Given the description of an element on the screen output the (x, y) to click on. 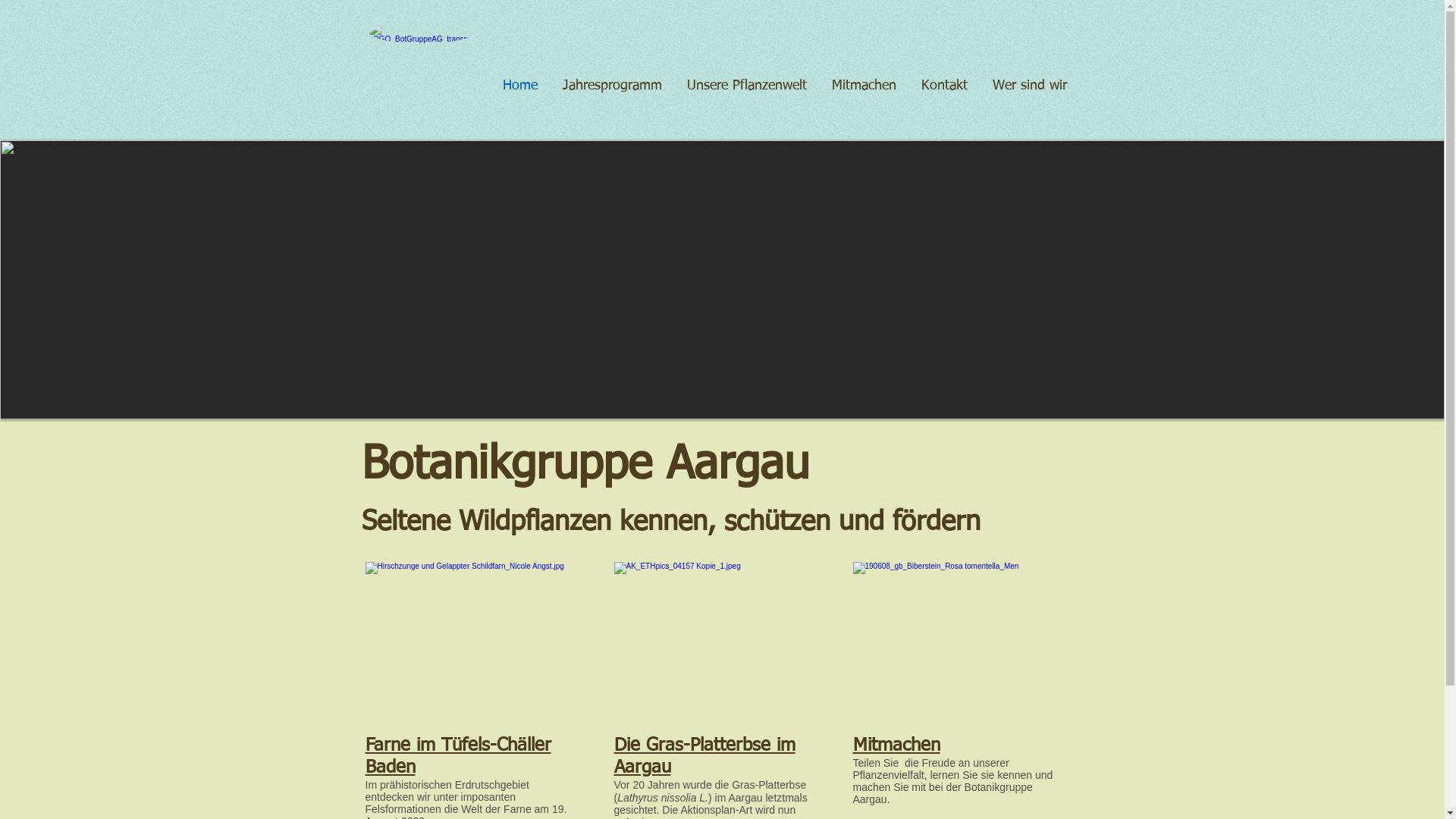
Hirschzunge un Gelappte Schildfarn. Bild: Nicole Angst Element type: hover (470, 641)
Home Element type: text (518, 86)
Mitmachen Element type: text (895, 745)
Kontakt Element type: text (942, 86)
Mitmachen Element type: text (861, 86)
Die Gras-Platterbse im Aargau Element type: text (704, 756)
Unsere Pflanzenwelt Element type: text (745, 86)
Jahresprogramm Element type: text (611, 86)
Wer sind wir Element type: text (1027, 86)
